Given the description of an element on the screen output the (x, y) to click on. 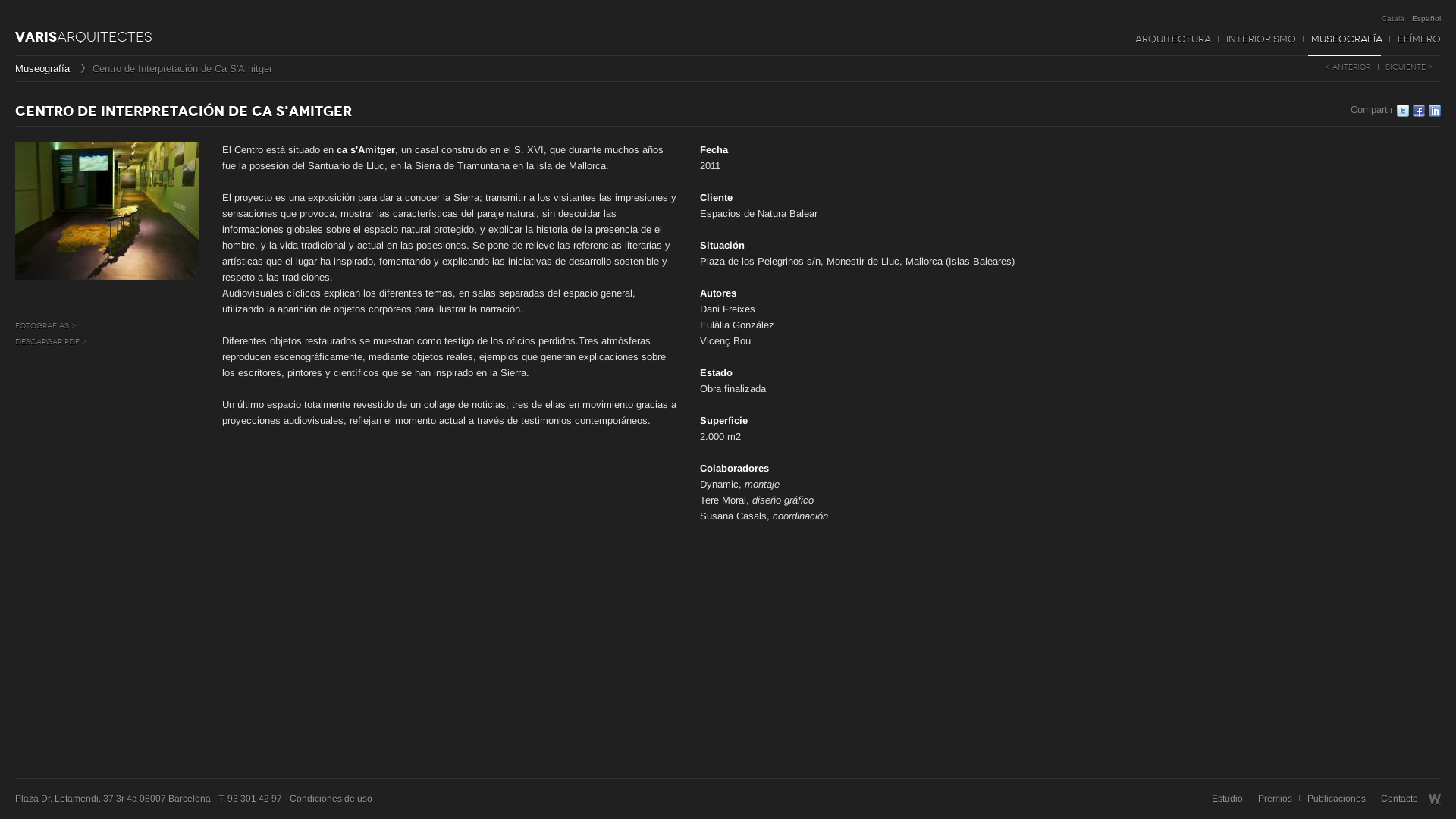
< Anterior Element type: text (1347, 66)
Siguiente > Element type: text (1409, 66)
BEWEB Element type: text (1434, 798)
linkedin Element type: text (1434, 110)
Estudio Element type: text (1226, 798)
Condiciones de uso Element type: text (330, 798)
ARQUITECTURA Element type: text (1173, 38)
Facebook Element type: text (1418, 110)
VARISARQUITECTES Element type: text (83, 36)
Publicaciones Element type: text (1336, 798)
FOTOGRAFIAS > Element type: text (45, 325)
Premios Element type: text (1275, 798)
DESCARGAR PDF > Element type: text (51, 341)
Twitter Element type: text (1402, 110)
Contacto Element type: text (1399, 798)
INTERIORISMO Element type: text (1260, 38)
